Given the description of an element on the screen output the (x, y) to click on. 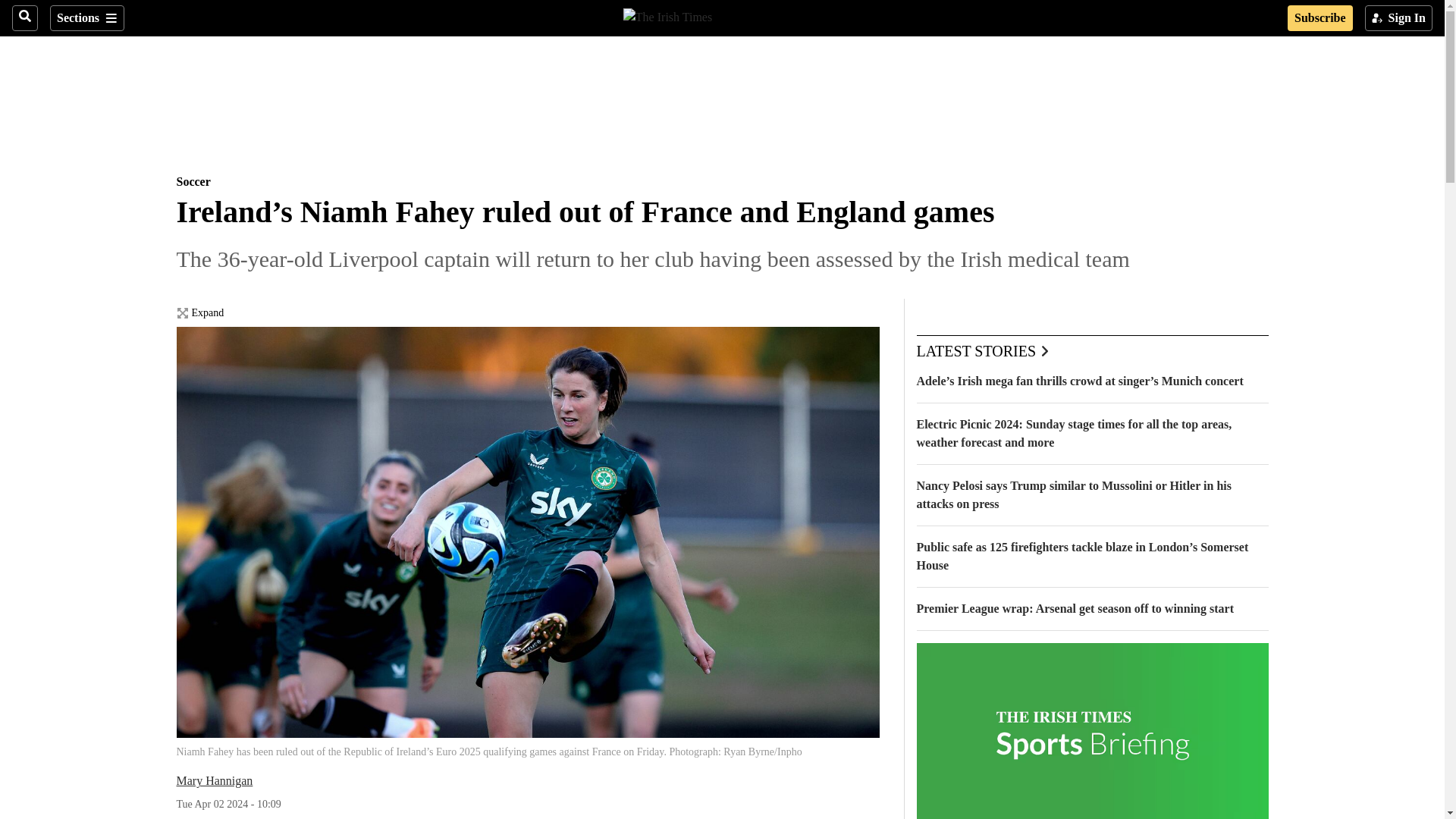
Sign In (1398, 17)
Sections (86, 17)
Subscribe (1319, 17)
The Irish Times (667, 15)
